Given the description of an element on the screen output the (x, y) to click on. 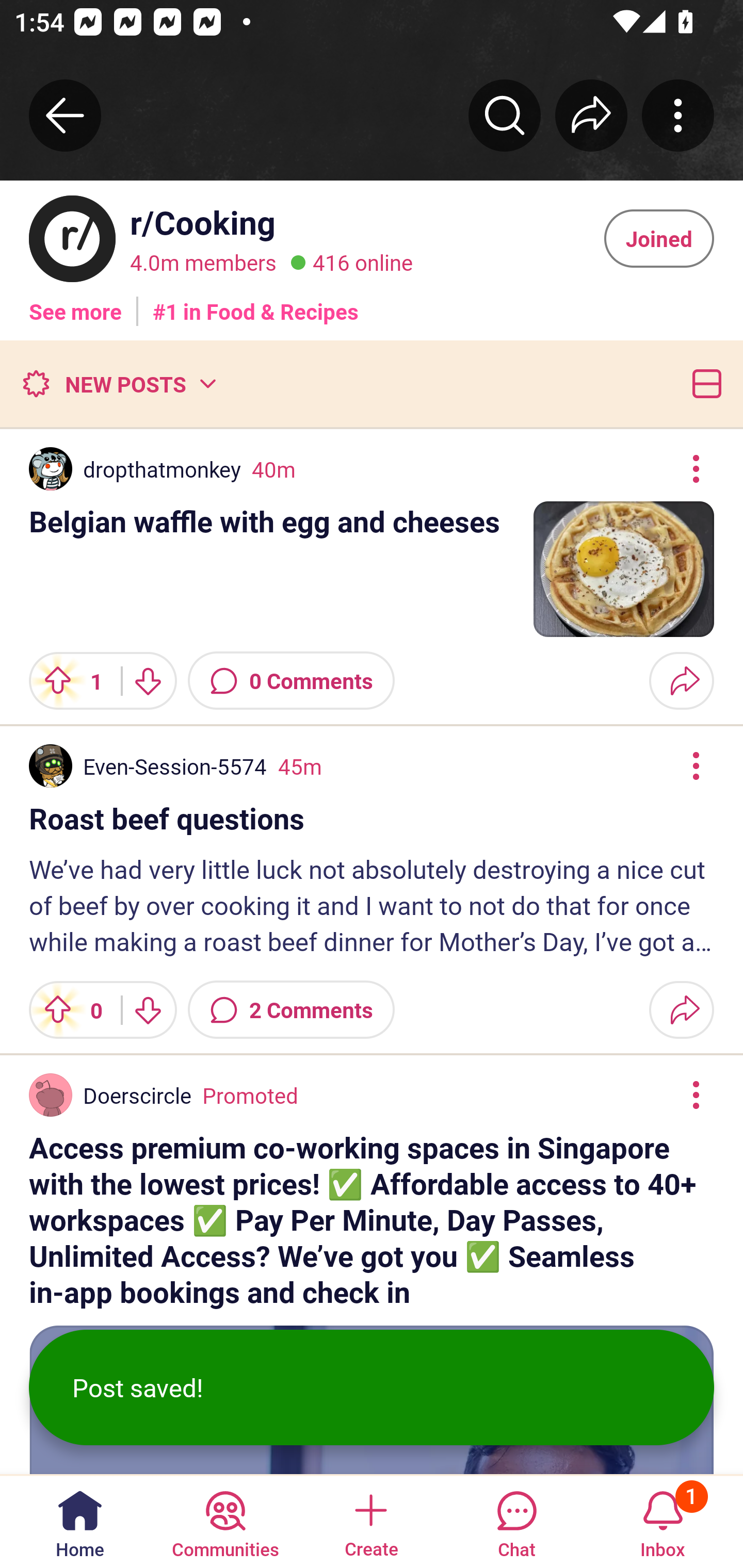
Back (64, 115)
Search r/﻿Cooking (504, 115)
Share r/﻿Cooking (591, 115)
More community actions (677, 115)
See more (74, 304)
#1 in Food & Recipes (255, 304)
New posts NEW POSTS (118, 383)
Card (703, 383)
Home (80, 1520)
Communities (225, 1520)
Create a post Create (370, 1520)
Chat (516, 1520)
Inbox, has 1 notification 1 Inbox (662, 1520)
